Given the description of an element on the screen output the (x, y) to click on. 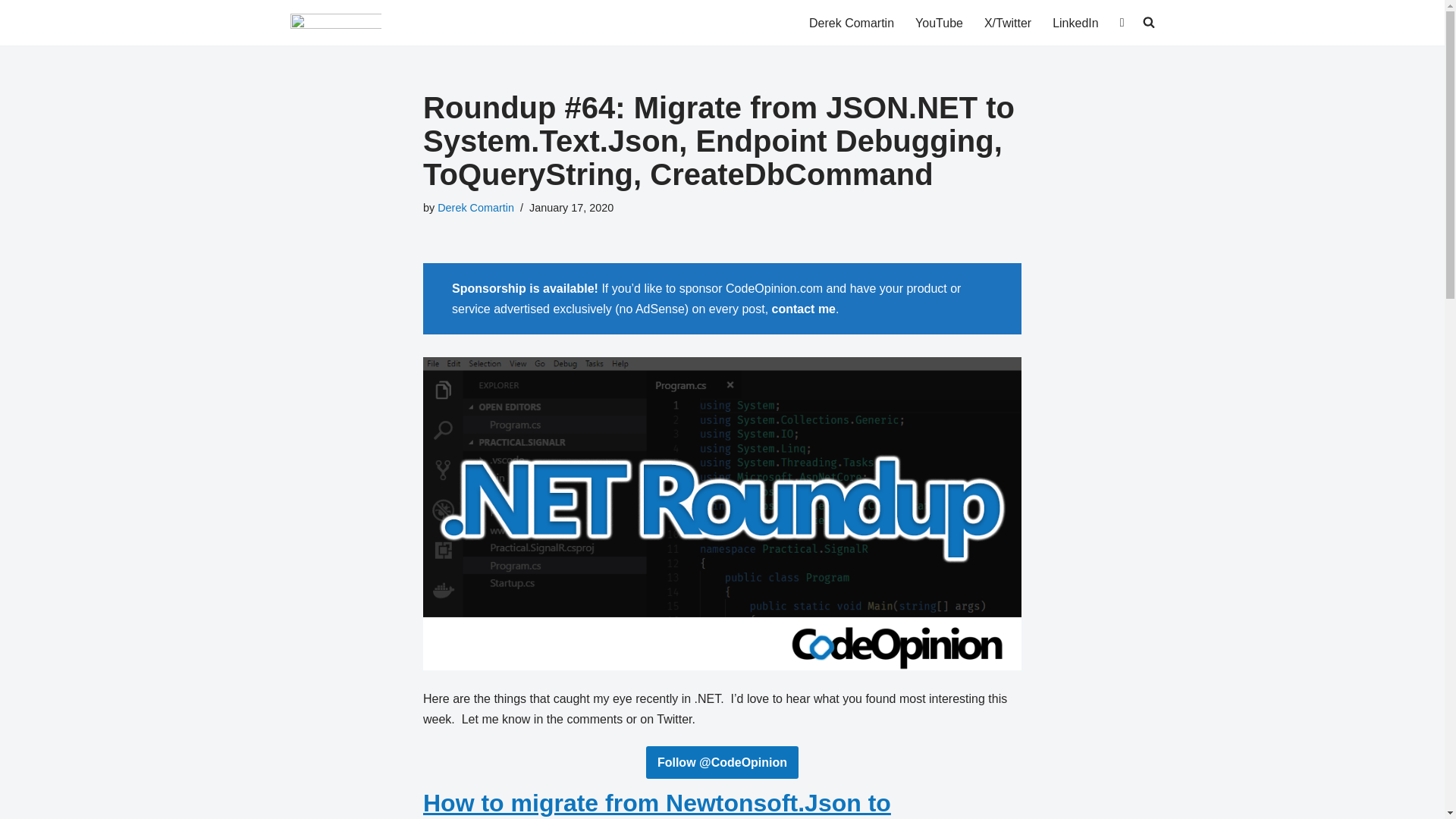
Derek Comartin (851, 23)
contact me (803, 308)
Derek Comartin (475, 207)
LinkedIn (1075, 23)
Posts by Derek Comartin (475, 207)
YouTube (938, 23)
Skip to content (11, 31)
How to migrate from Newtonsoft.Json to System.Text.Json (657, 804)
